Given the description of an element on the screen output the (x, y) to click on. 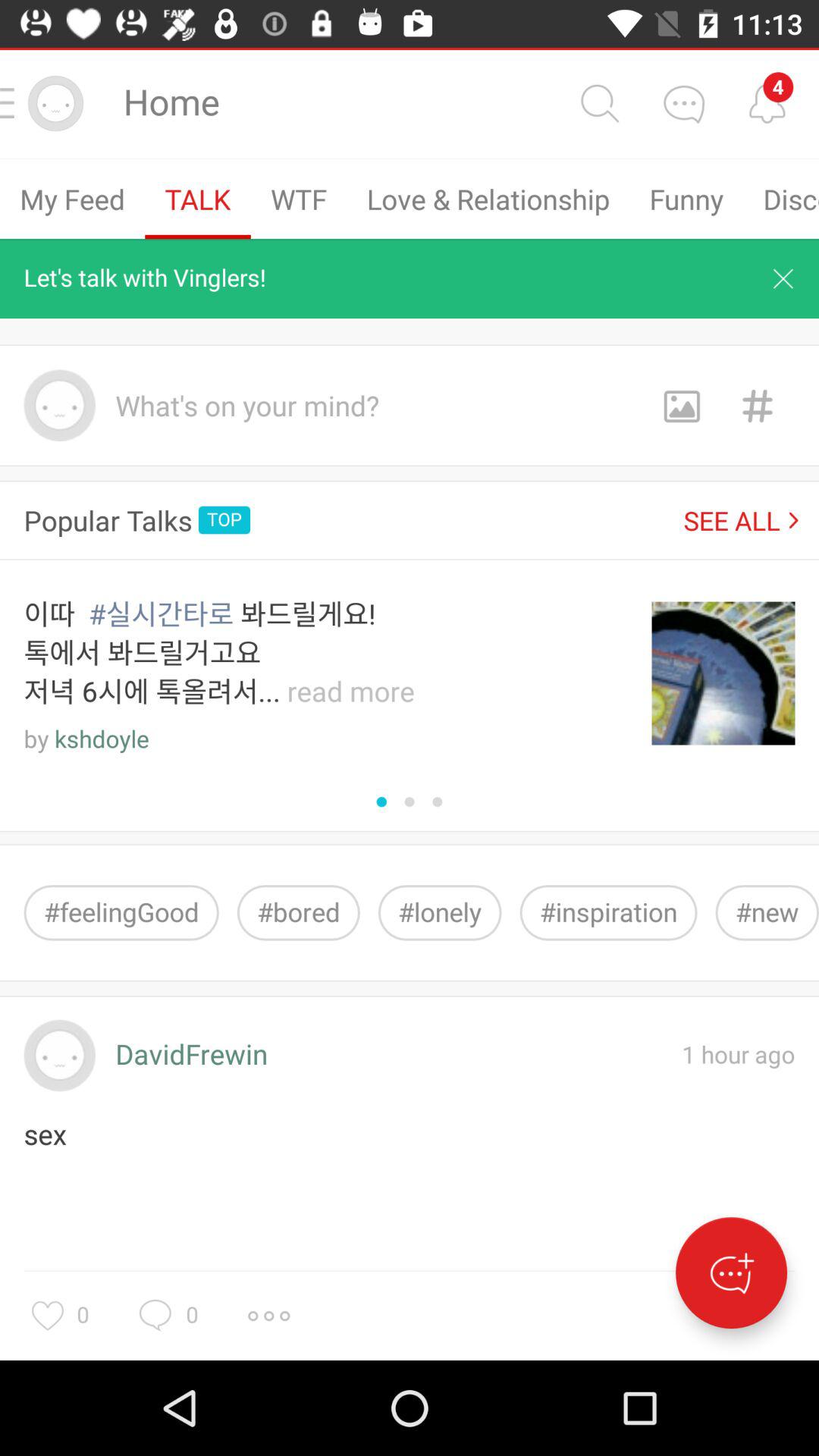
do a search (599, 103)
